Given the description of an element on the screen output the (x, y) to click on. 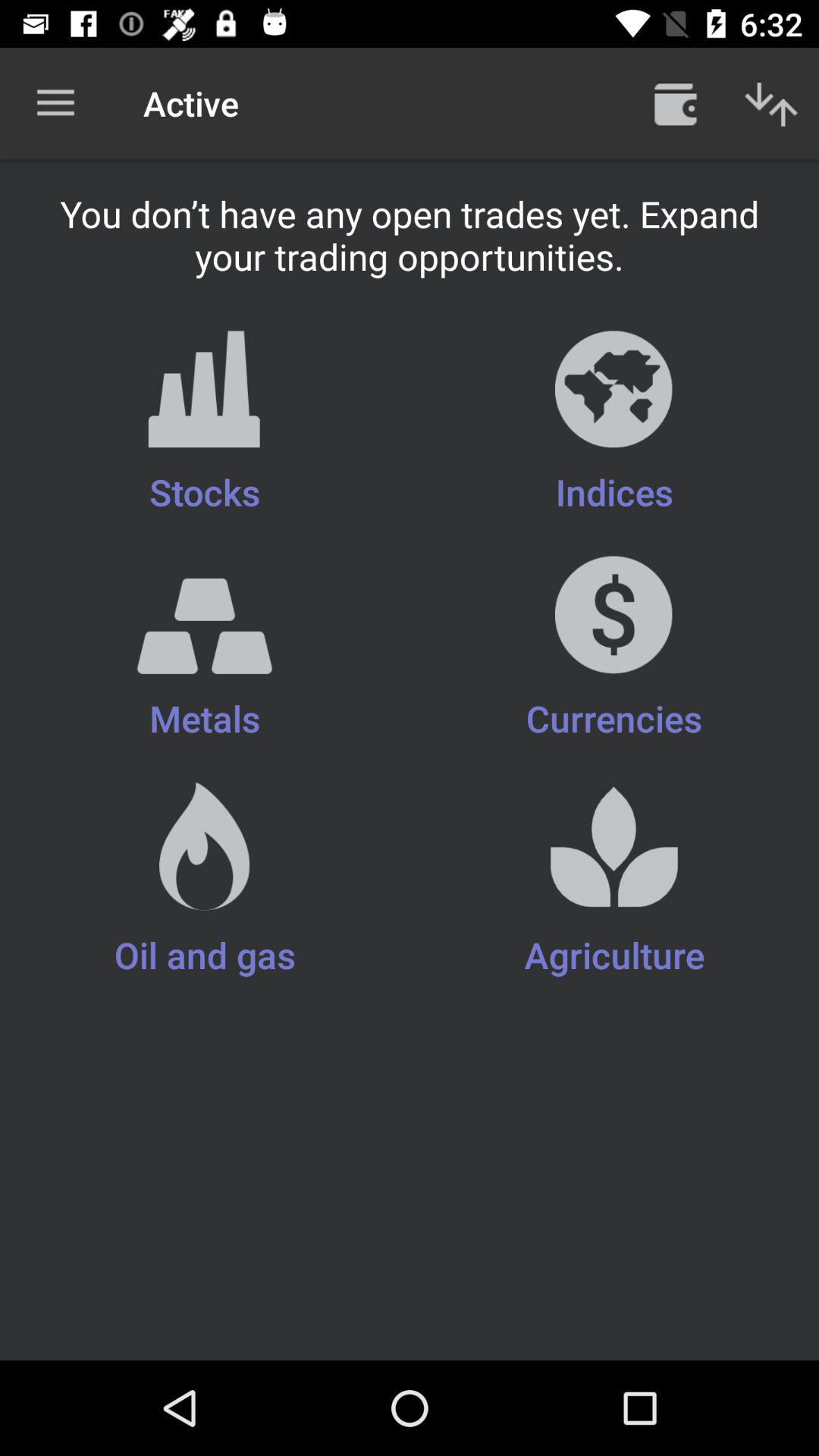
view wallet (675, 103)
